Given the description of an element on the screen output the (x, y) to click on. 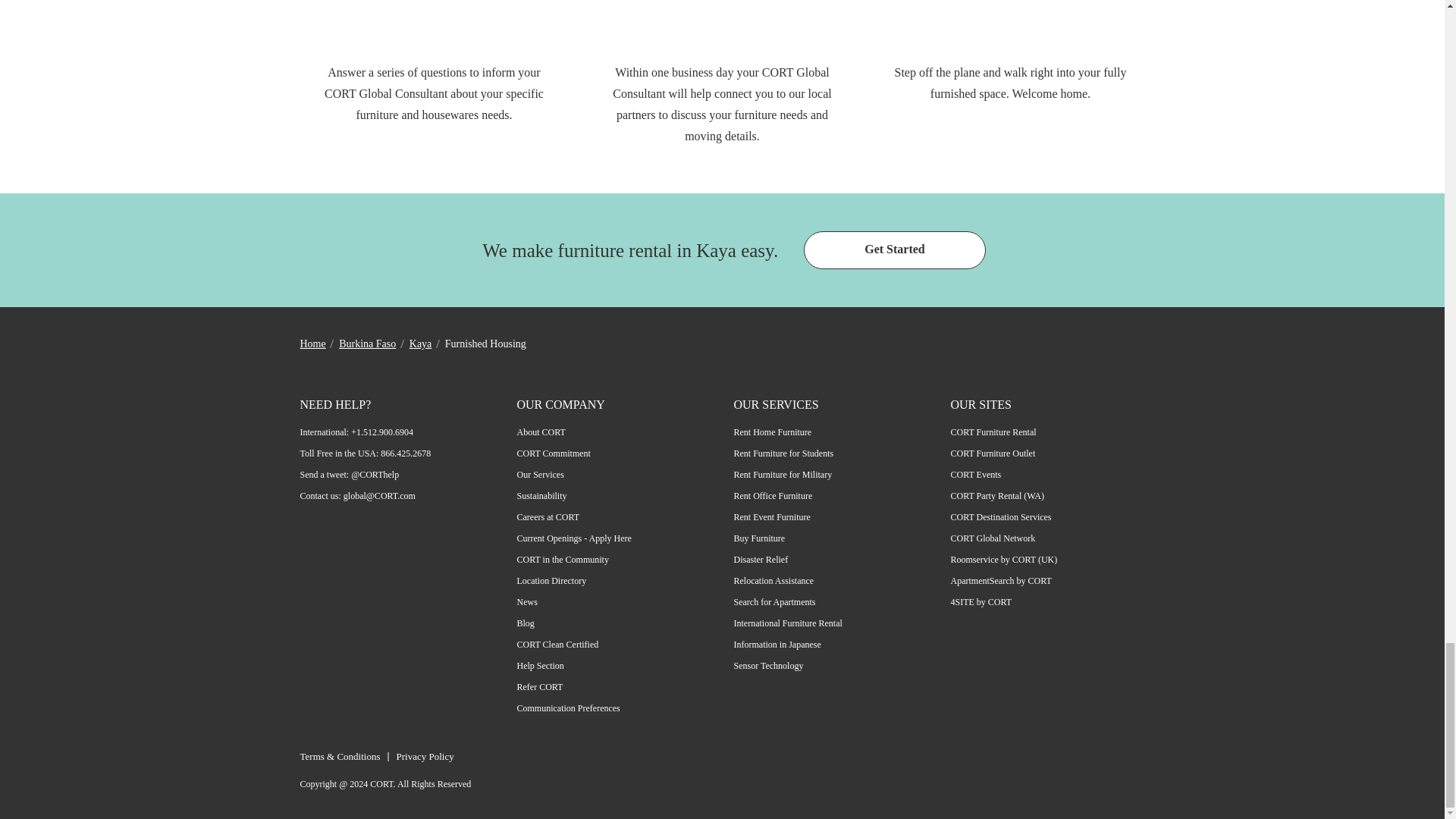
CORT Commitment (553, 452)
Sustainability (541, 495)
Our Services (540, 474)
Home (312, 343)
Toll Free in the USA: 866.425.2678 (364, 452)
Burkina Faso (367, 343)
Kaya (420, 343)
About CORT (541, 431)
Get Started (894, 249)
